Given the description of an element on the screen output the (x, y) to click on. 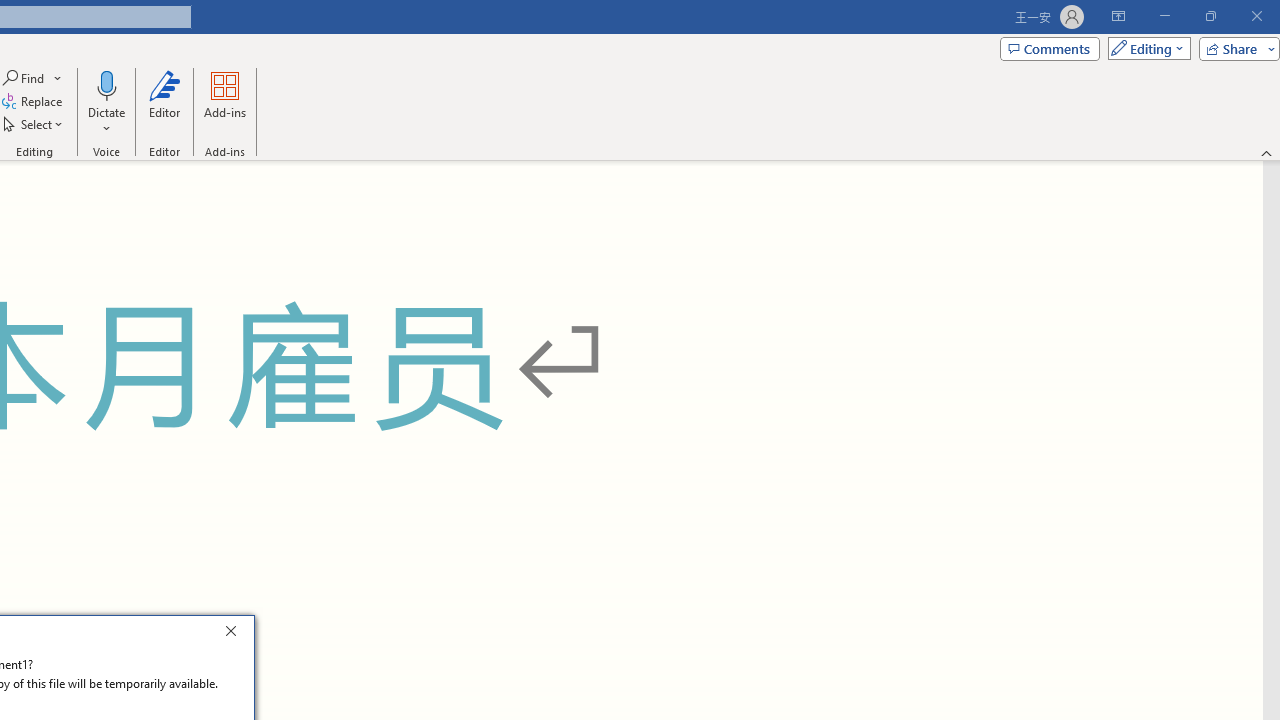
Editing (1144, 47)
